Given the description of an element on the screen output the (x, y) to click on. 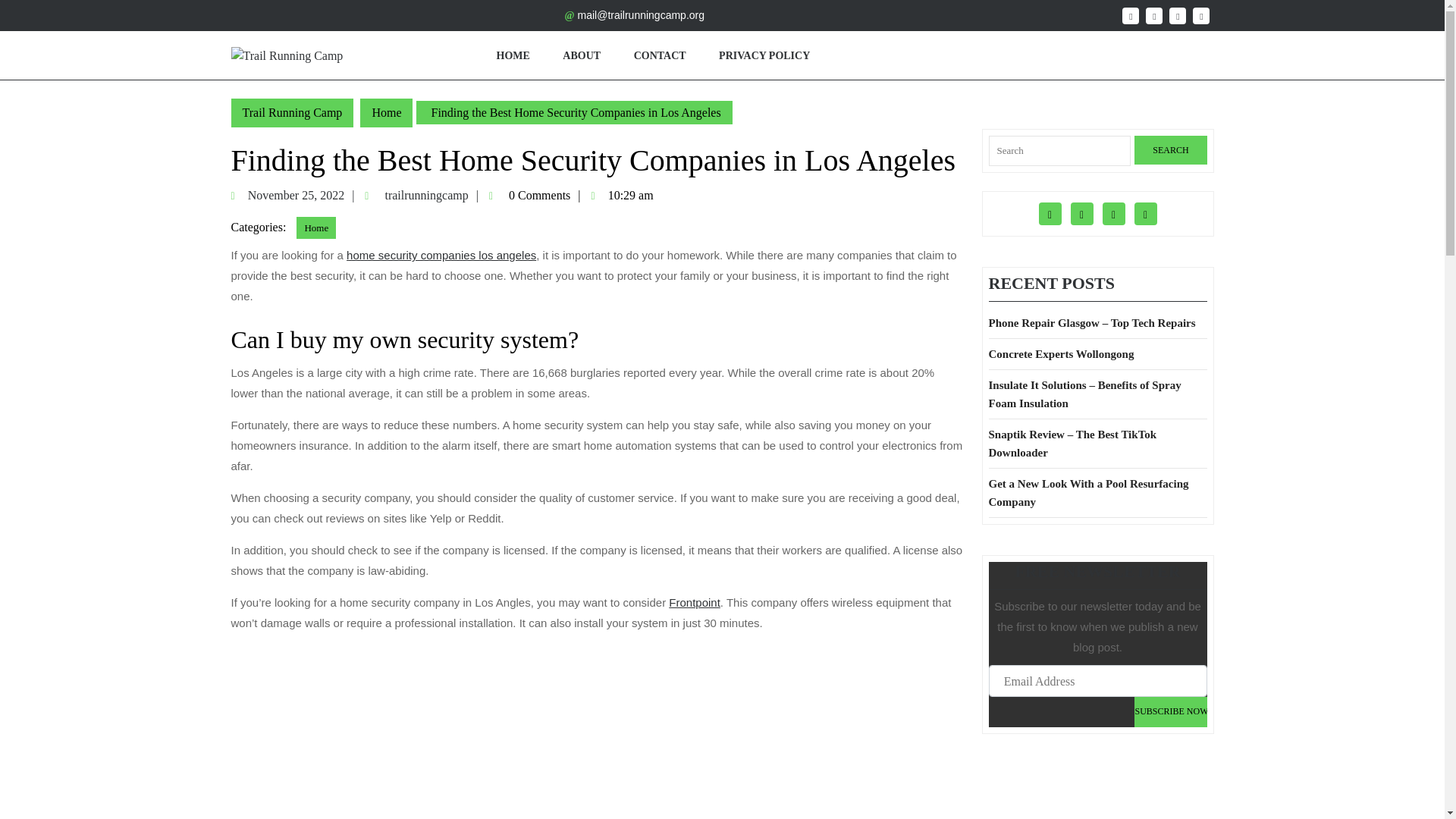
Trail Running Camp (291, 112)
Linkedin (1177, 15)
Facebook (1130, 15)
SUBSCRIBE NOW (303, 195)
ABOUT (1170, 711)
HOME (581, 55)
Youtube (512, 55)
Search (1200, 15)
Twitter (1170, 149)
